Given the description of an element on the screen output the (x, y) to click on. 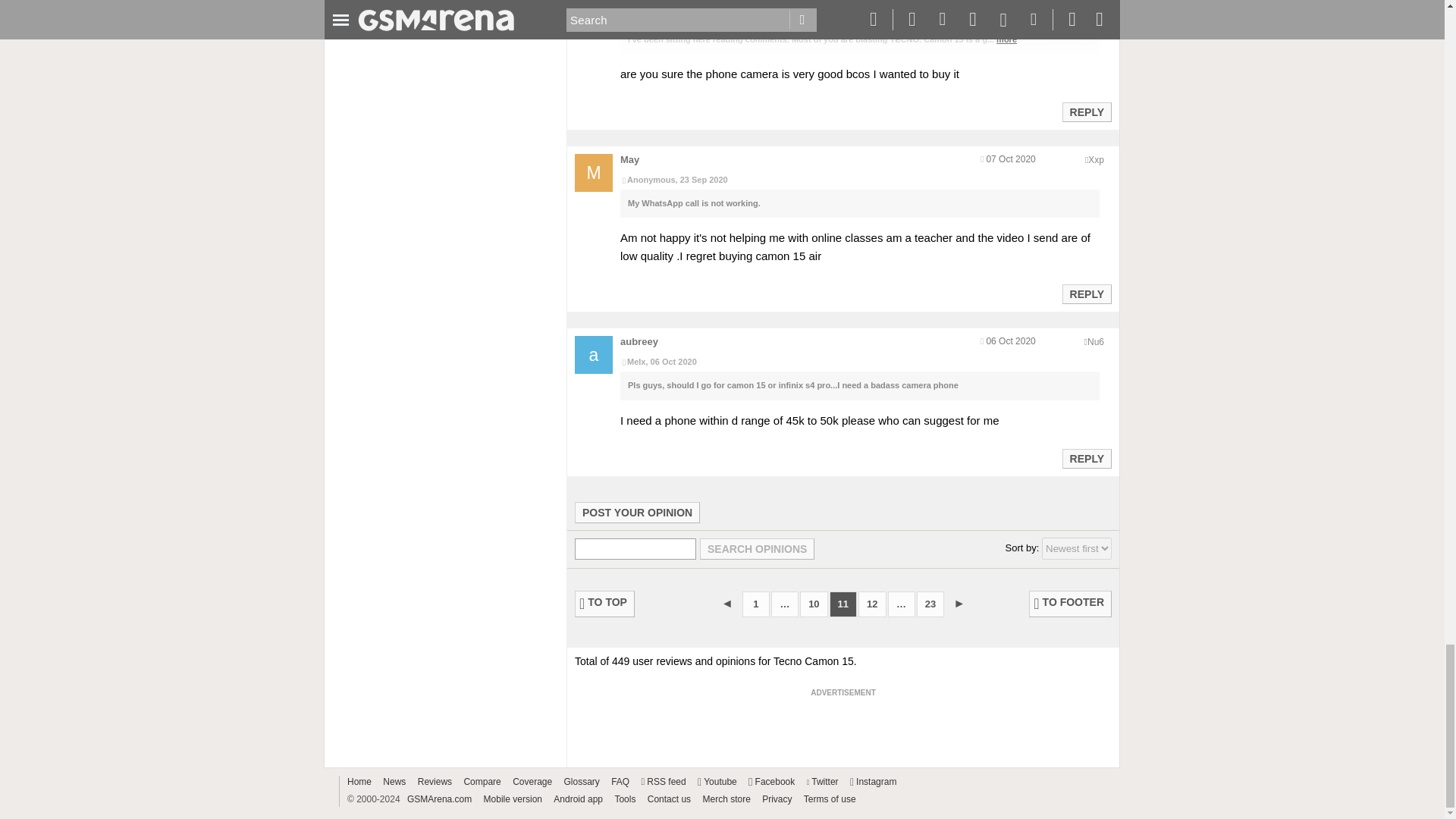
Search opinions (756, 548)
TO TOP (604, 603)
